Given the description of an element on the screen output the (x, y) to click on. 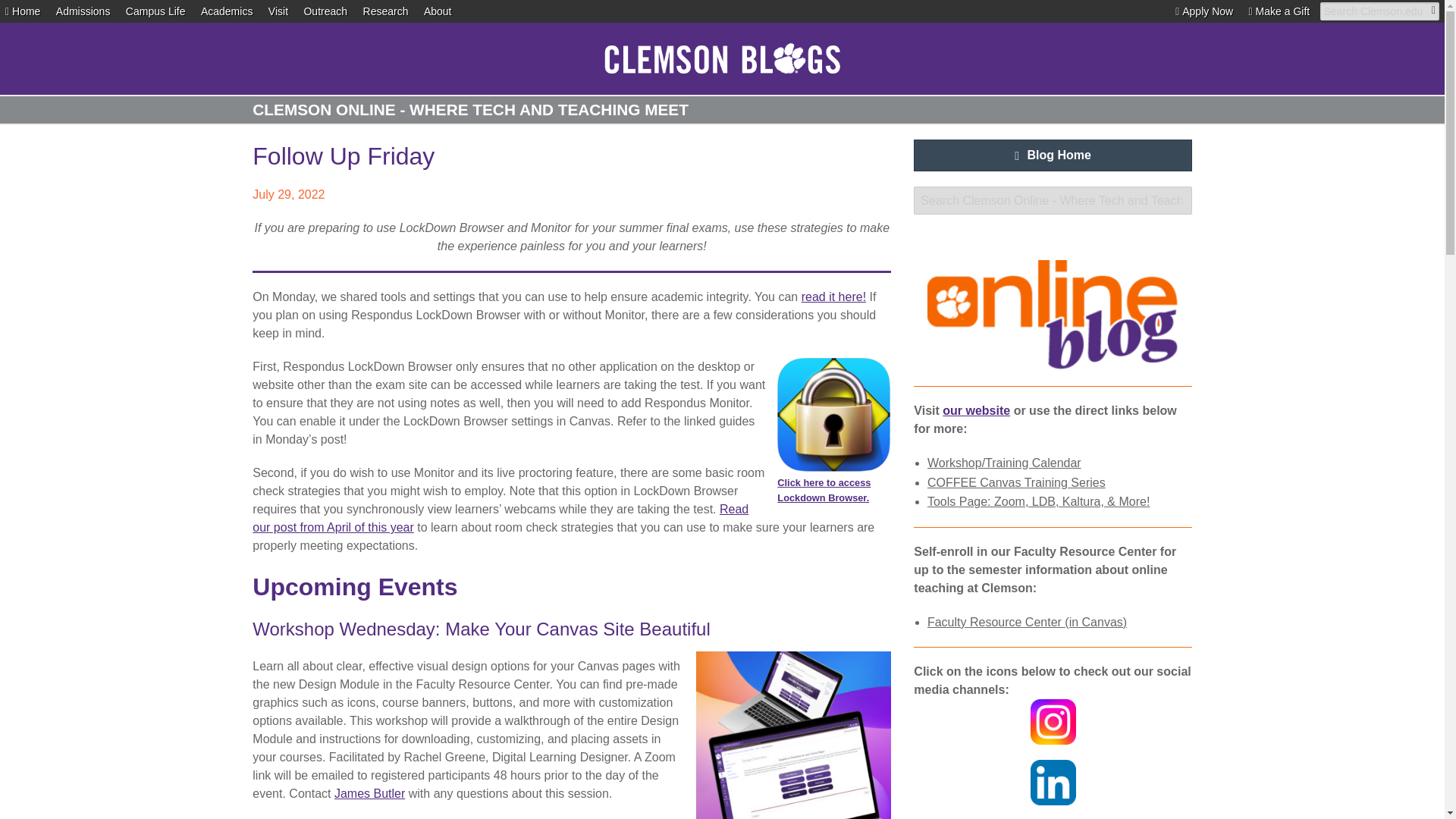
Academics (225, 10)
Home (22, 10)
Campus Life (155, 10)
Outreach (324, 10)
Make a Gift (1279, 10)
Visit (277, 10)
About (437, 10)
Admissions (83, 10)
Research (385, 10)
Apply Now (1203, 10)
